Given the description of an element on the screen output the (x, y) to click on. 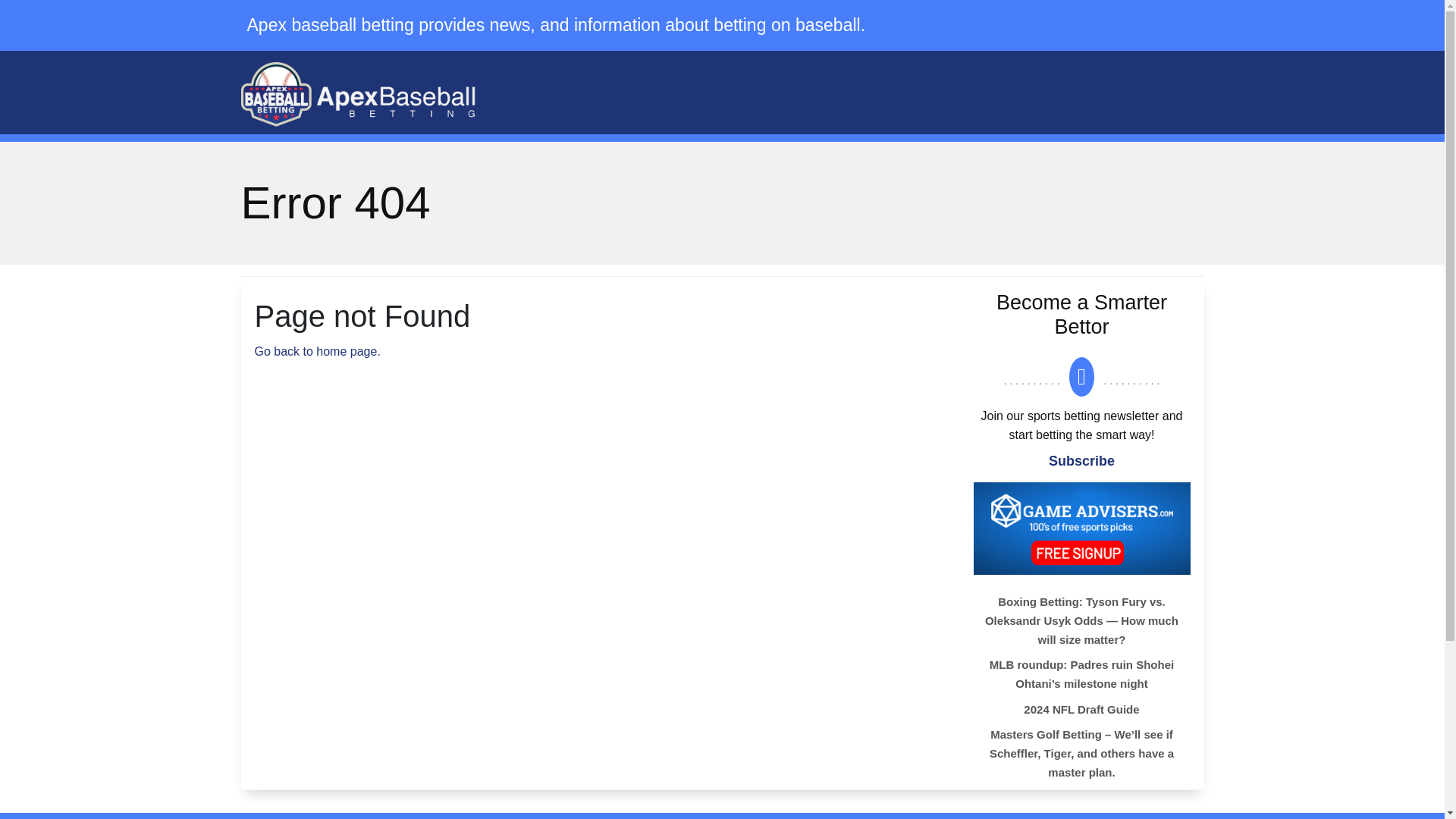
Subscribe (1081, 460)
Go back to home page. (317, 350)
2024 NFL Draft Guide (1127, 710)
